Given the description of an element on the screen output the (x, y) to click on. 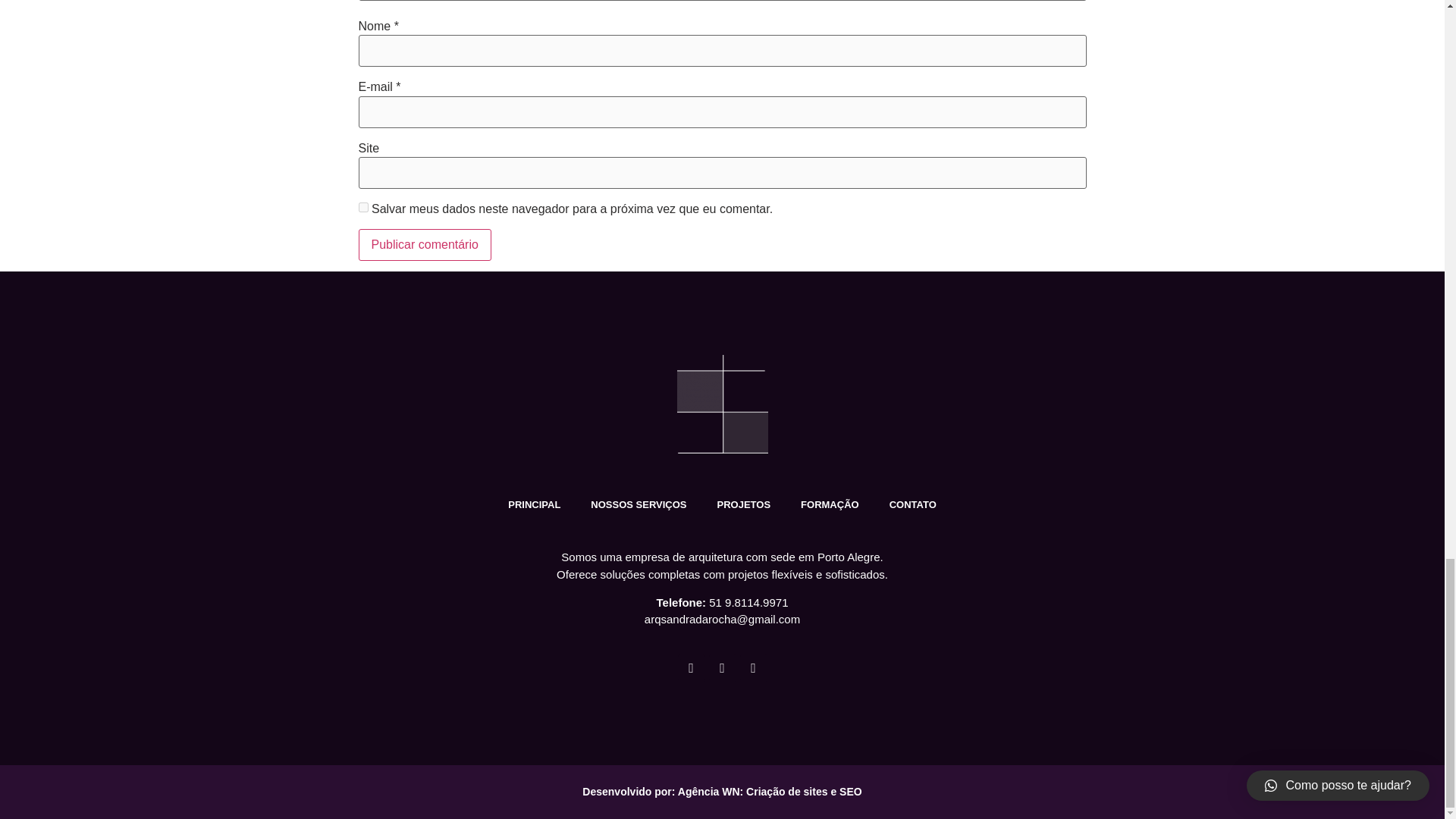
logo-favicon (722, 403)
51 9.8114.9971 (748, 602)
SEO (850, 791)
PROJETOS (743, 504)
PRINCIPAL (534, 504)
CONTATO (913, 504)
SEO (850, 791)
yes (363, 207)
